Given the description of an element on the screen output the (x, y) to click on. 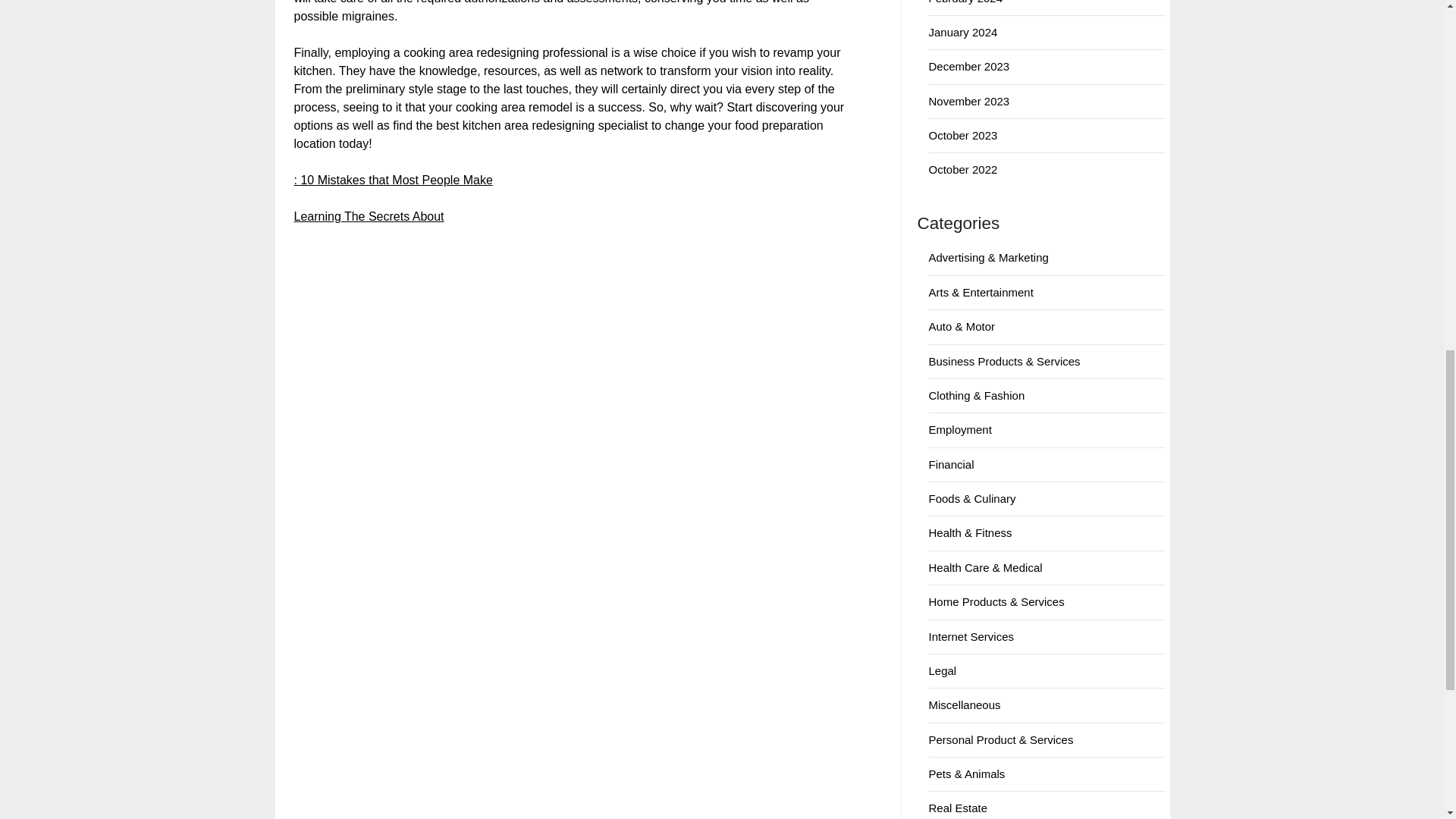
December 2023 (968, 65)
February 2024 (965, 2)
Internet Services (970, 635)
November 2023 (968, 101)
Employment (959, 429)
October 2022 (962, 169)
Financial (951, 463)
Learning The Secrets About (369, 215)
: 10 Mistakes that Most People Make (393, 179)
October 2023 (962, 134)
Legal (942, 670)
Miscellaneous (964, 704)
January 2024 (962, 31)
